Given the description of an element on the screen output the (x, y) to click on. 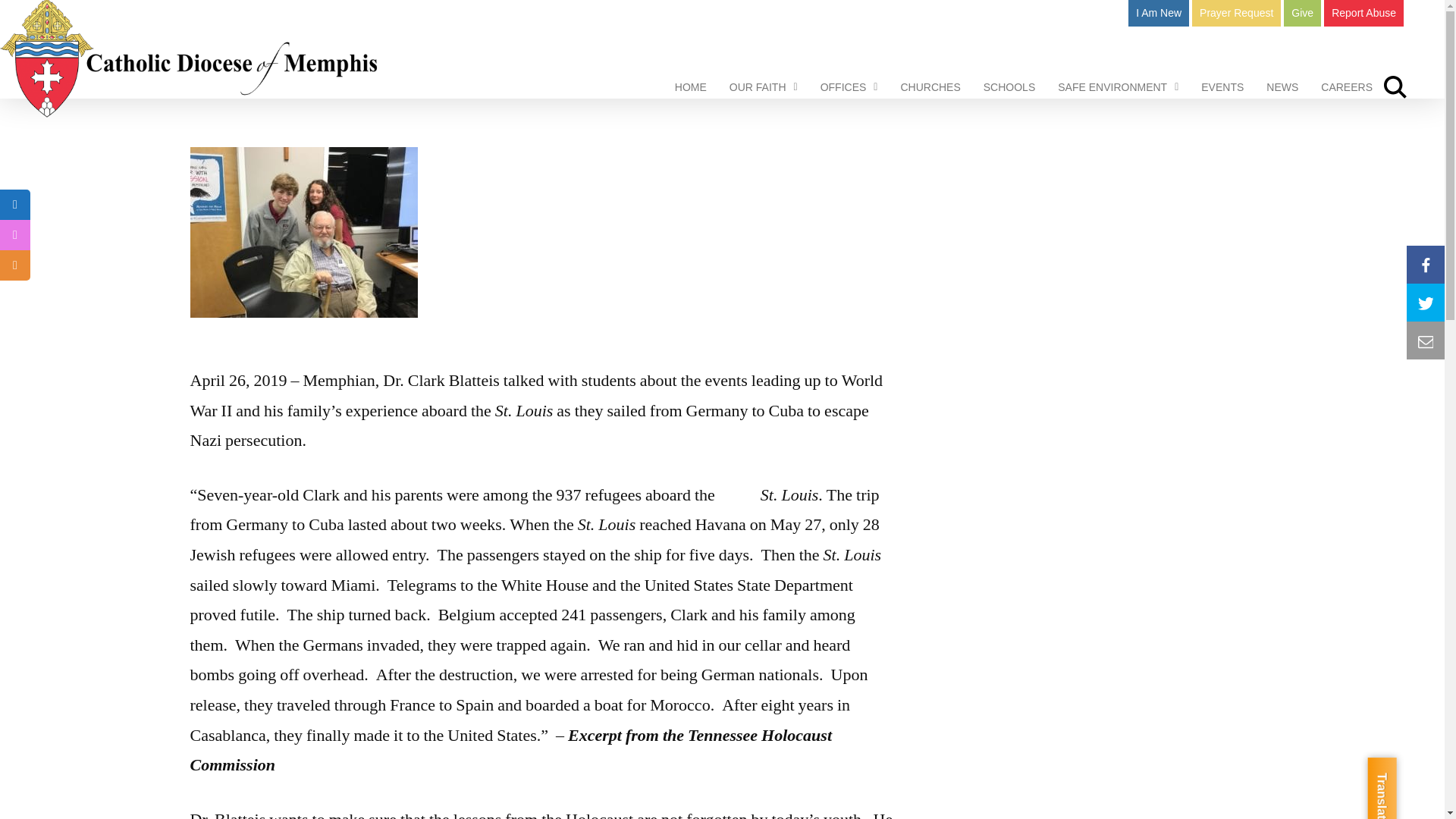
Report Abuse (1363, 13)
OUR FAITH (763, 87)
HOME (690, 87)
I Am New (1158, 13)
SCHOOLS (1009, 87)
SAFE ENVIRONMENT (1117, 87)
CHURCHES (929, 87)
EVENTS (1222, 87)
CAREERS (1346, 87)
NEWS (1281, 87)
Give (1302, 13)
Prayer Request (1236, 13)
OFFICES (849, 87)
